Given the description of an element on the screen output the (x, y) to click on. 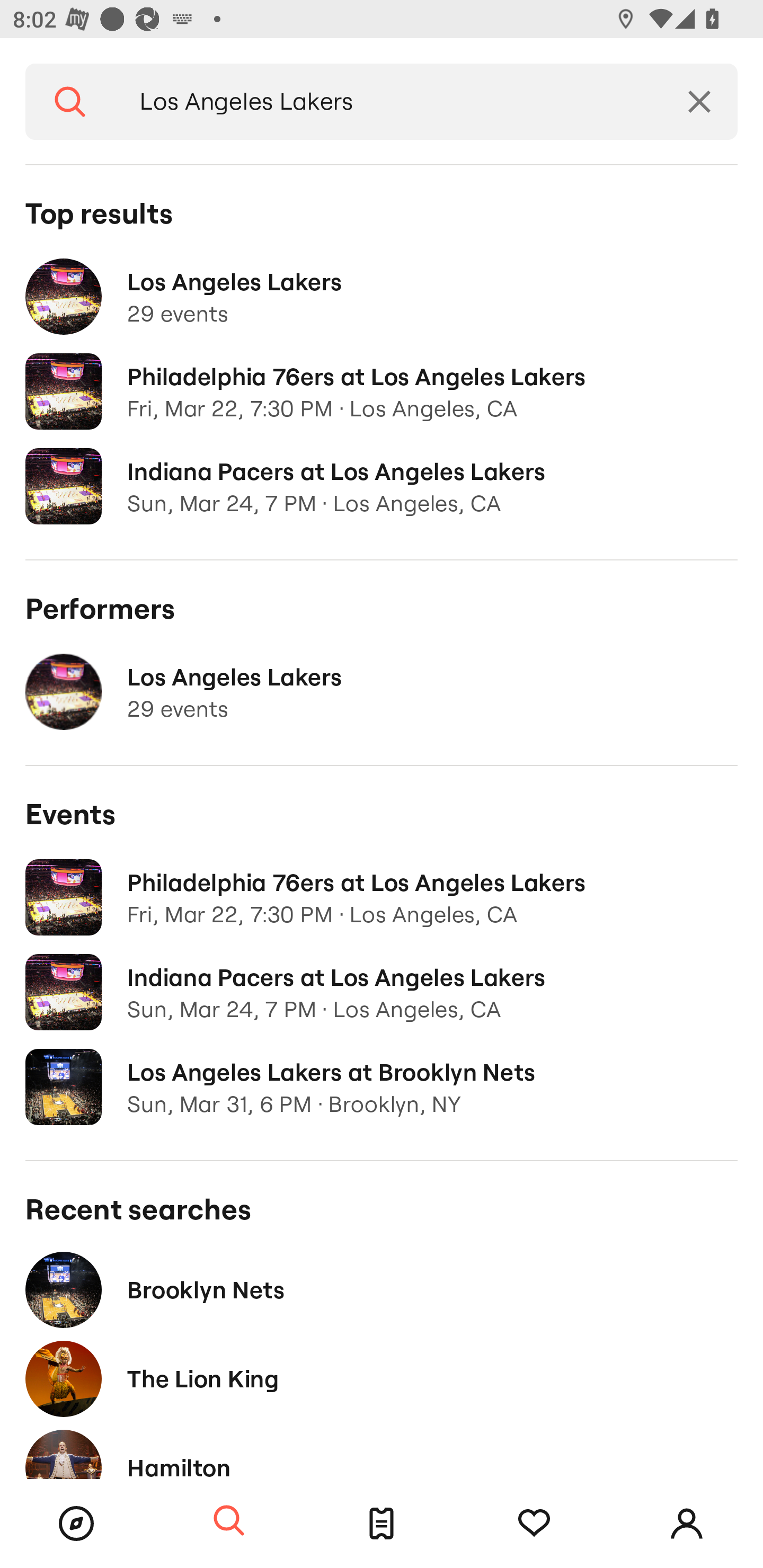
Search (69, 101)
Los Angeles Lakers (387, 101)
Clear (699, 101)
Los Angeles Lakers 29 events (381, 296)
Los Angeles Lakers 29 events (381, 692)
Brooklyn Nets (381, 1289)
The Lion King (381, 1378)
Browse (76, 1523)
Search (228, 1521)
Tickets (381, 1523)
Tracking (533, 1523)
Account (686, 1523)
